Given the description of an element on the screen output the (x, y) to click on. 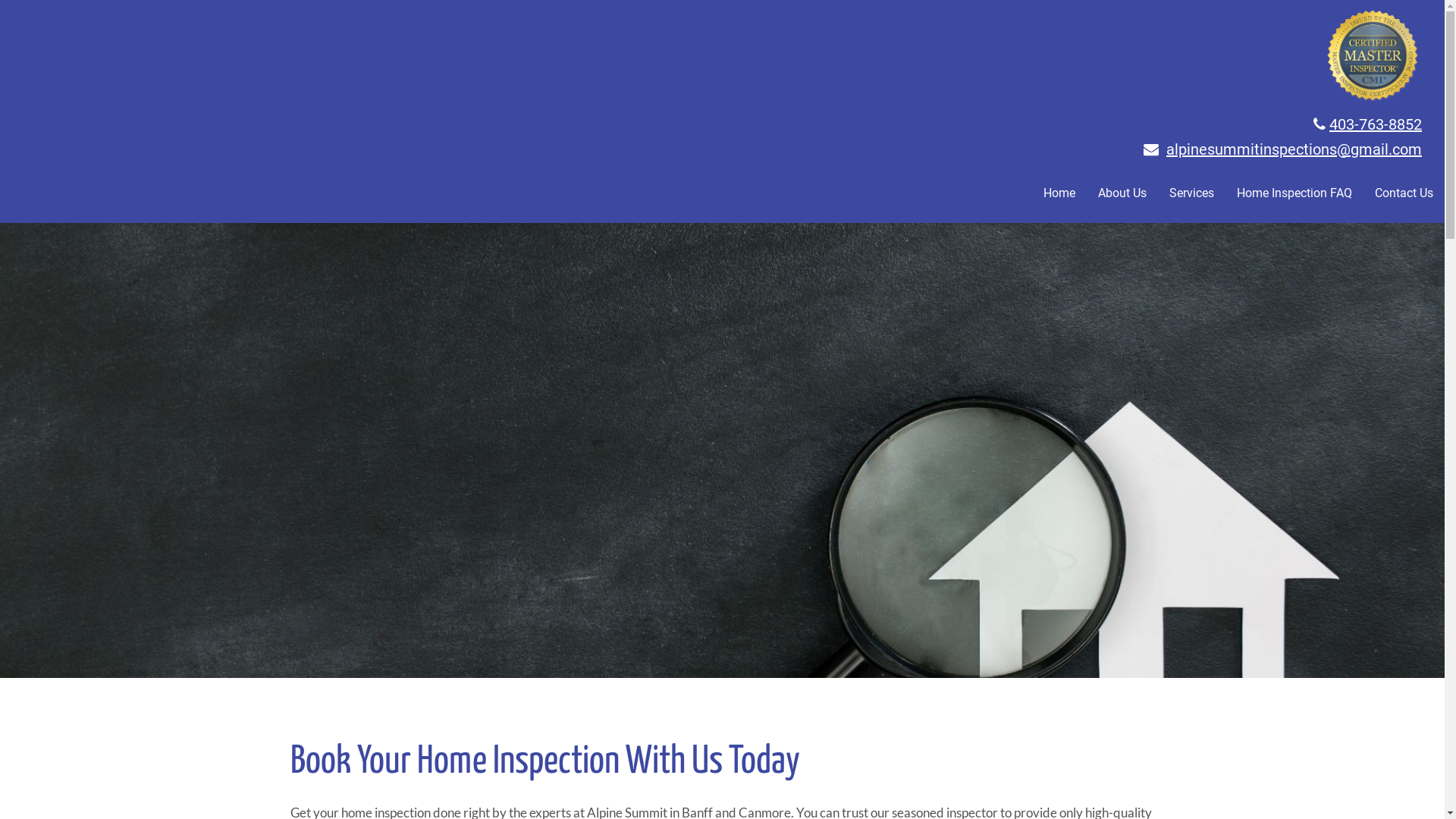
Skip to content Element type: text (48, 9)
alpinesummitinspections@gmail.com Element type: text (1293, 149)
About Us Element type: text (1122, 194)
Home Element type: text (1059, 194)
Services Element type: text (1191, 194)
403-763-8852 Element type: text (1375, 124)
Contact Us Element type: text (1403, 194)
Home Inspection FAQ Element type: text (1294, 194)
